Given the description of an element on the screen output the (x, y) to click on. 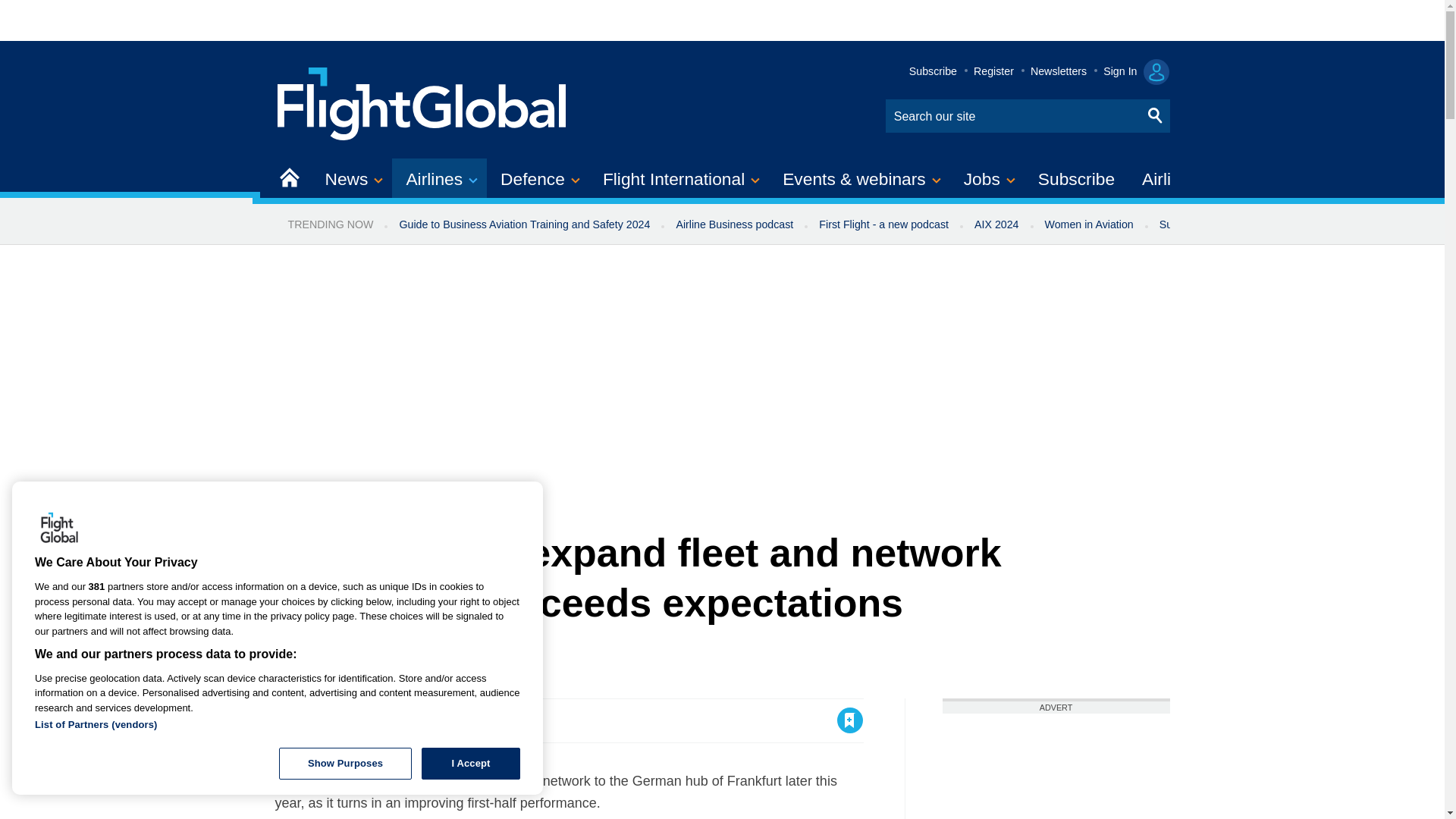
Share this on Linked in (352, 719)
Airline Business podcast (734, 224)
Women in Aviation (1089, 224)
Share this on Twitter (320, 719)
Share this on Facebook (288, 719)
Guide to Business Aviation Training and Safety 2024 (523, 224)
AIX 2024 (996, 224)
3rd party ad content (1055, 766)
Email this article (386, 719)
First Flight - a new podcast (883, 224)
Site name (422, 101)
